Given the description of an element on the screen output the (x, y) to click on. 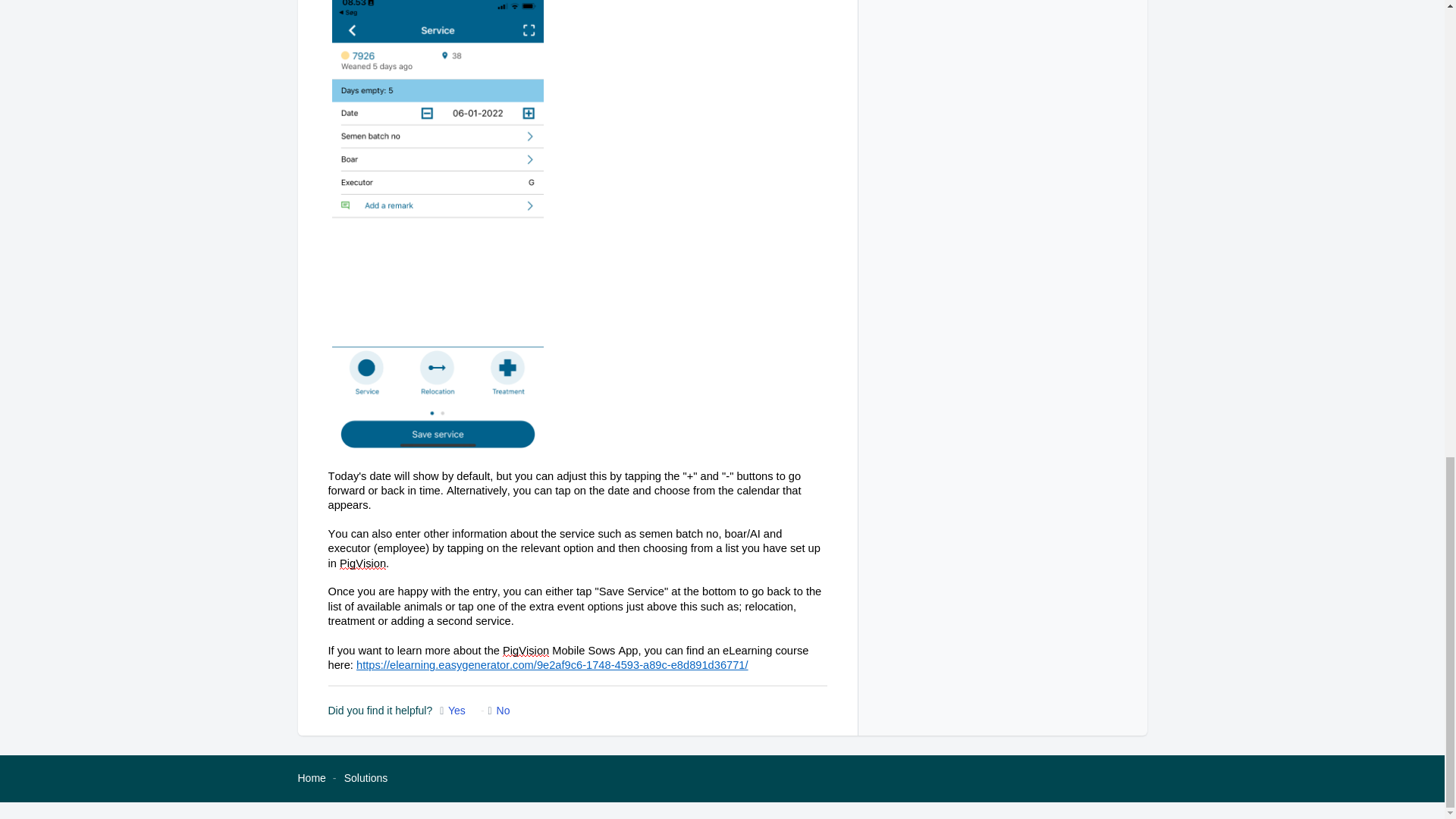
Home (310, 777)
Solutions (365, 777)
